Given the description of an element on the screen output the (x, y) to click on. 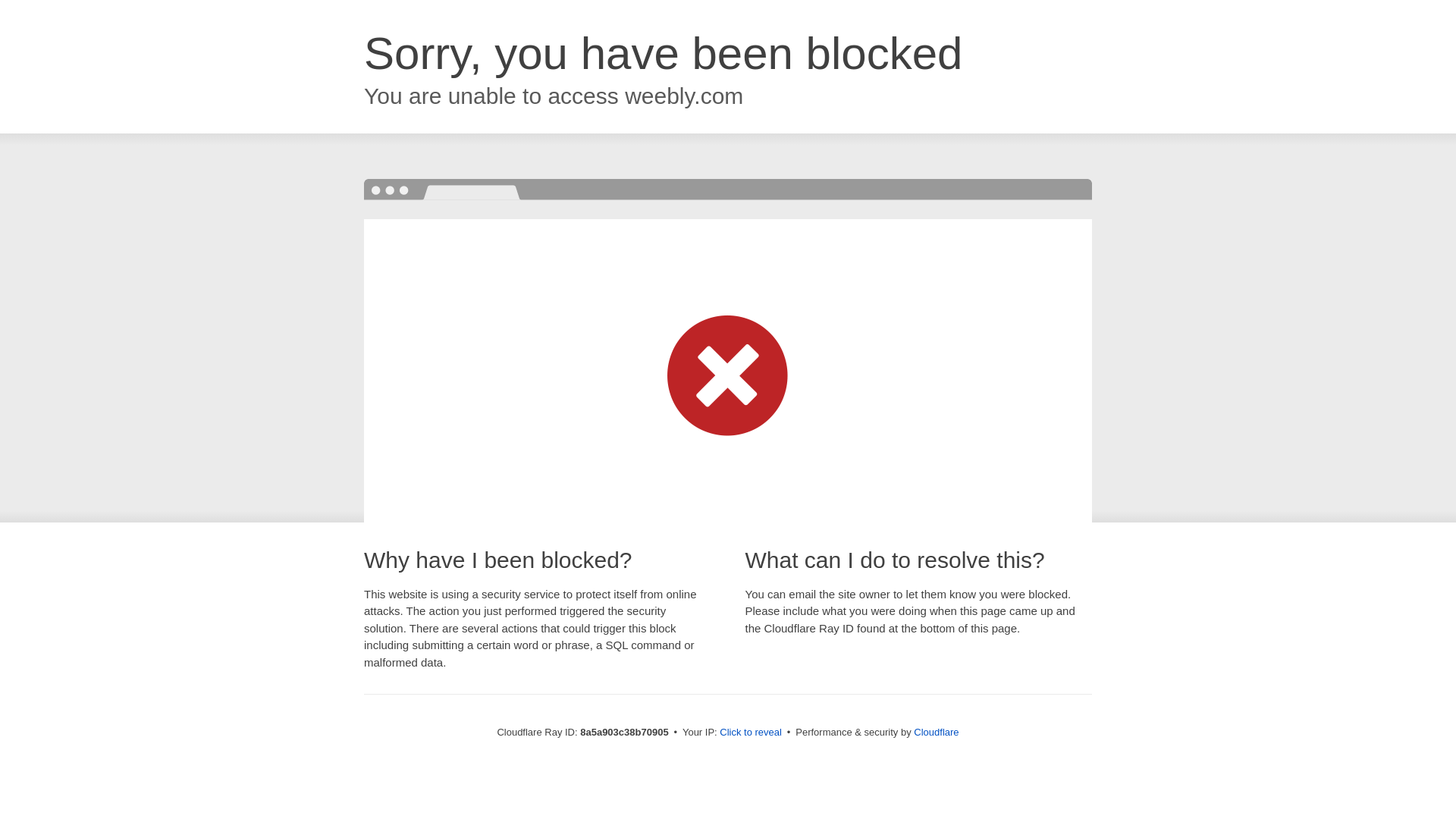
Cloudflare (936, 731)
Click to reveal (750, 732)
